Given the description of an element on the screen output the (x, y) to click on. 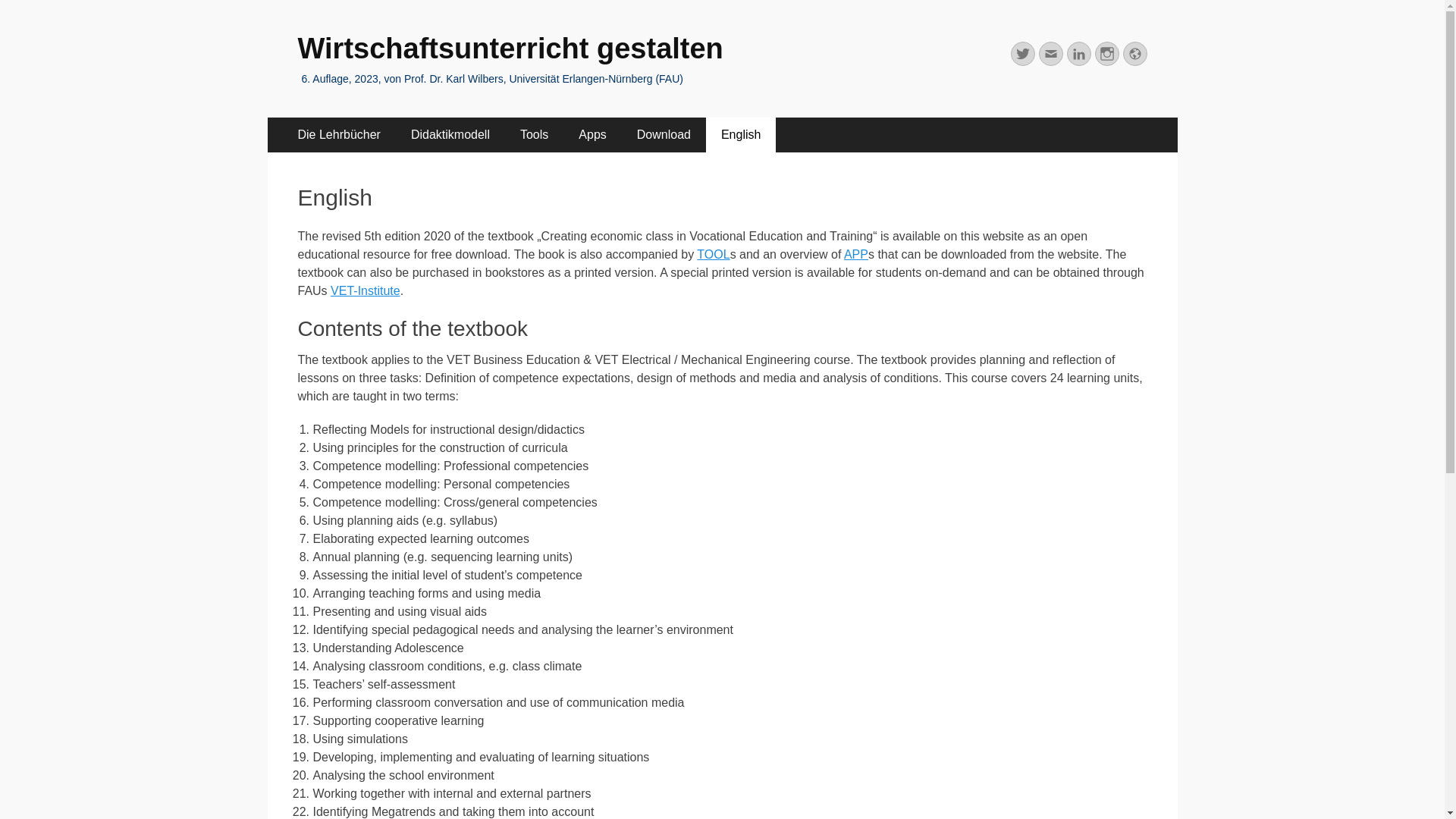
Website (1134, 53)
Instagram (1106, 53)
Twitter (1021, 53)
E-Mail (1050, 53)
Wirtschaftsunterricht gestalten (509, 48)
Tools (534, 134)
LinkedIn (1077, 53)
Didaktikmodell (450, 134)
Twitter (1021, 53)
English (741, 134)
